Given the description of an element on the screen output the (x, y) to click on. 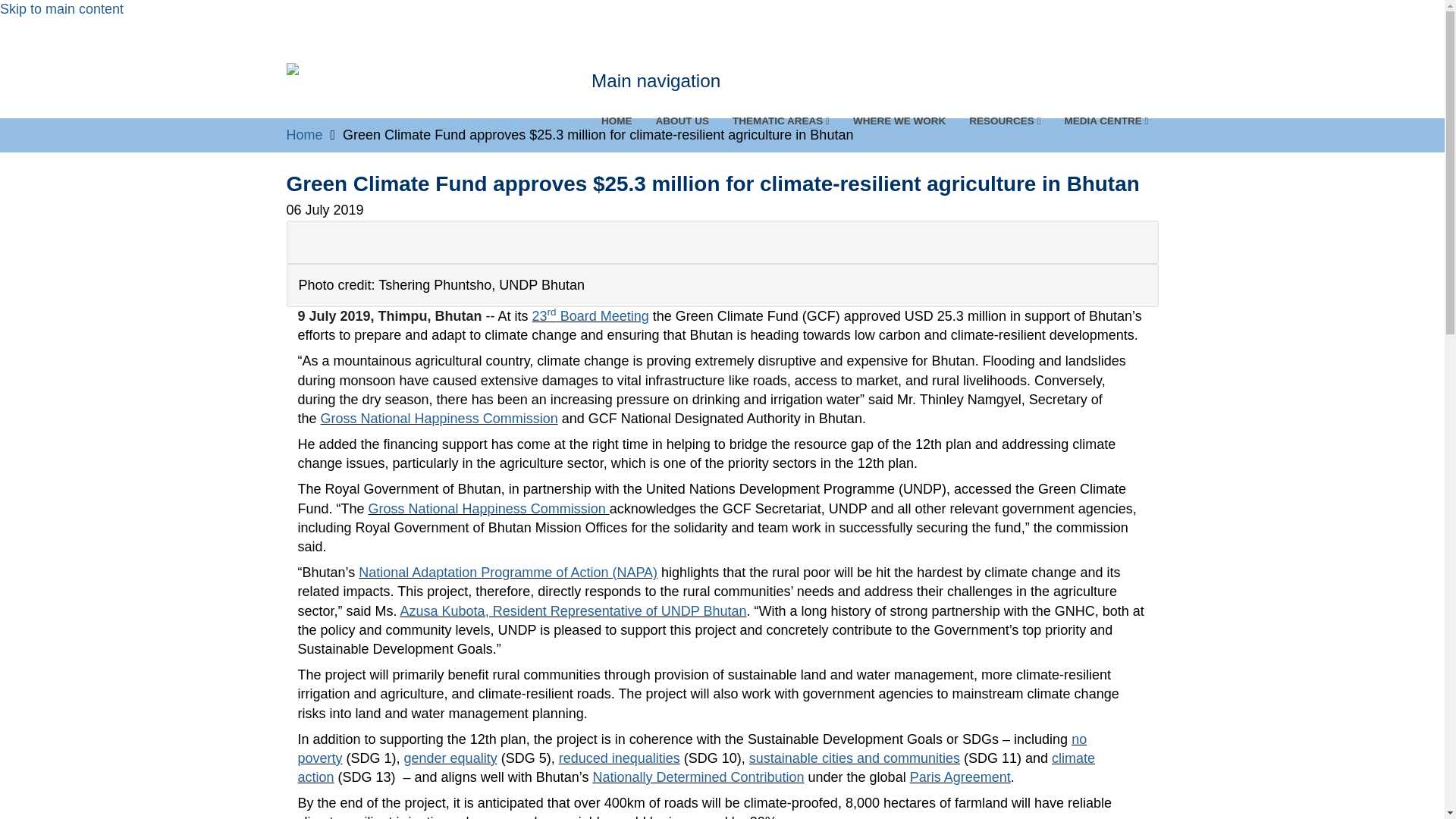
no poverty (691, 748)
THEMATIC AREAS (781, 121)
gender equality (450, 758)
WHERE WE WORK (899, 121)
Gross National Happiness Commission (438, 418)
Skip to main content (61, 8)
Home (304, 134)
RESOURCES (1004, 121)
Nationally Determined Contribution (697, 776)
reduced inequalities (619, 758)
